Given the description of an element on the screen output the (x, y) to click on. 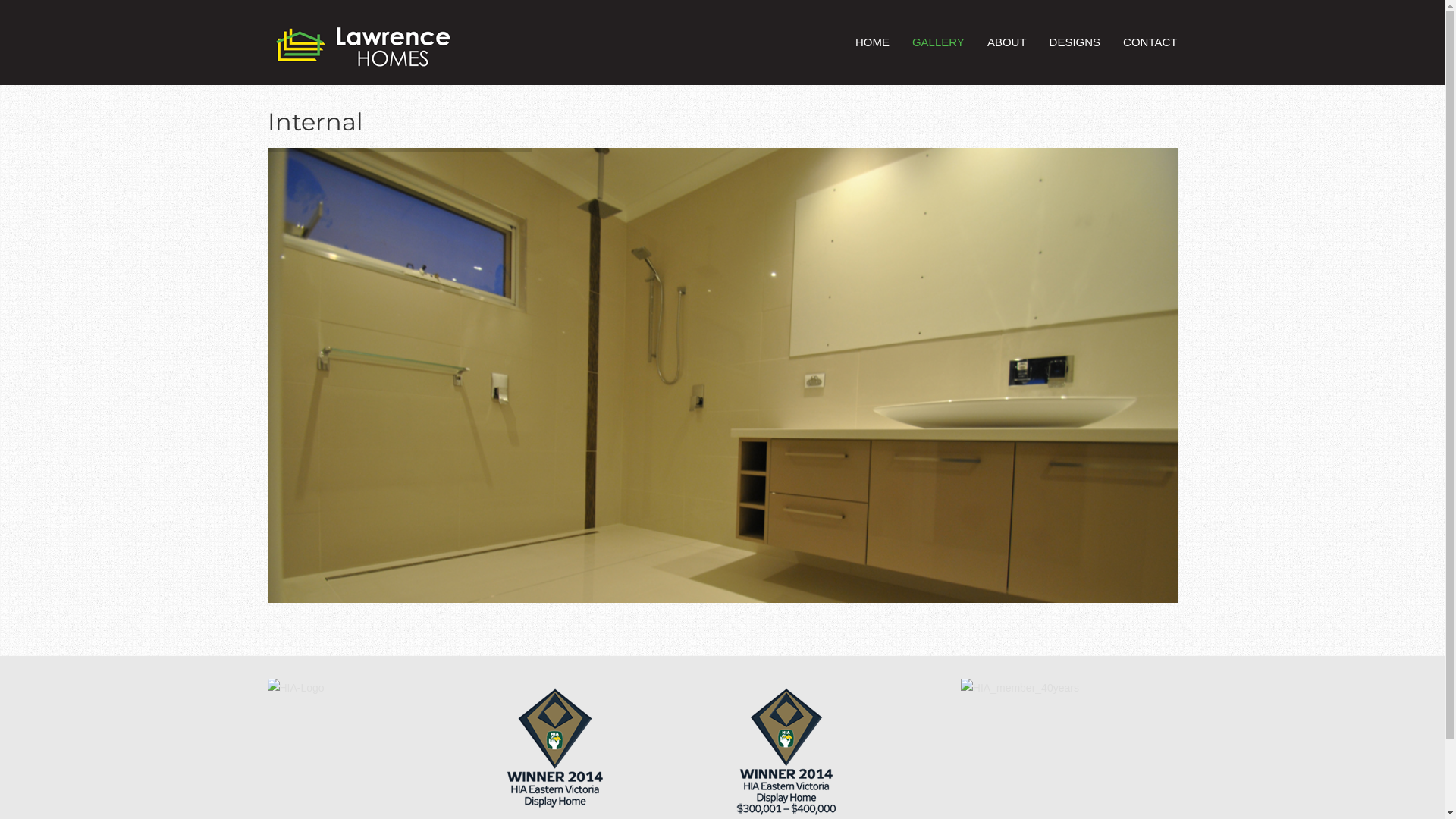
DESIGNS Element type: text (1075, 42)
GALLERY Element type: text (938, 42)
CONTACT Element type: text (1149, 42)
ABOUT Element type: text (1006, 42)
HOME Element type: text (872, 42)
Builders Bairnsdale, Lakes Entrance, Metung, Paynesville Element type: hover (361, 52)
